Given the description of an element on the screen output the (x, y) to click on. 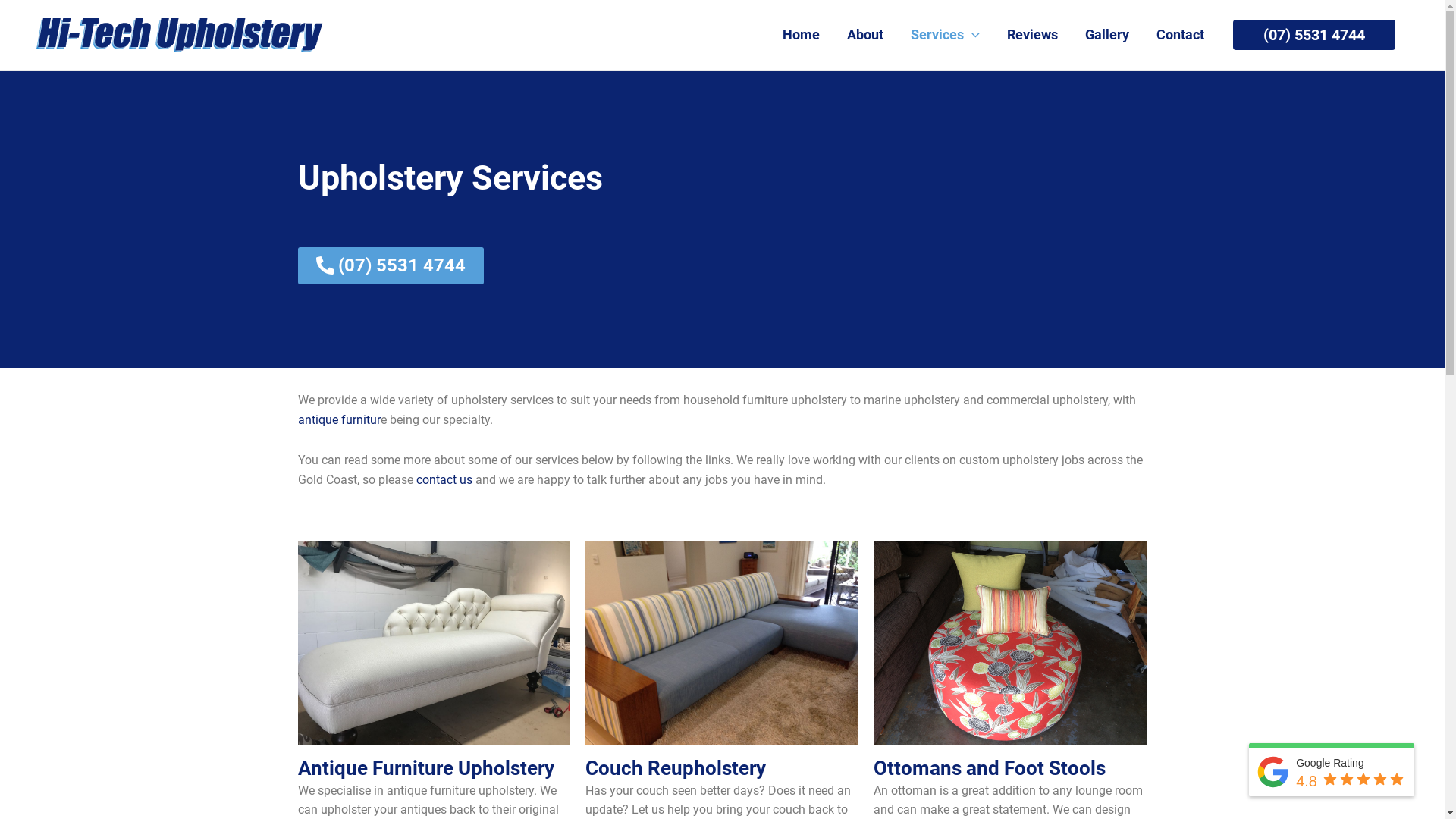
Antique Furniture Upholstery Element type: text (425, 767)
Home Element type: text (800, 34)
About Element type: text (865, 34)
Couch Reupholstery Element type: text (675, 767)
Reviews Element type: text (1032, 34)
Contact Element type: text (1179, 34)
(07) 5531 4744 Element type: text (1314, 34)
Gallery Element type: text (1106, 34)
Ottomans and Foot Stools Element type: text (989, 767)
Services Element type: text (945, 34)
(07) 5531 4744 Element type: text (390, 265)
antique furnitur Element type: text (338, 419)
contact us Element type: text (443, 479)
